Given the description of an element on the screen output the (x, y) to click on. 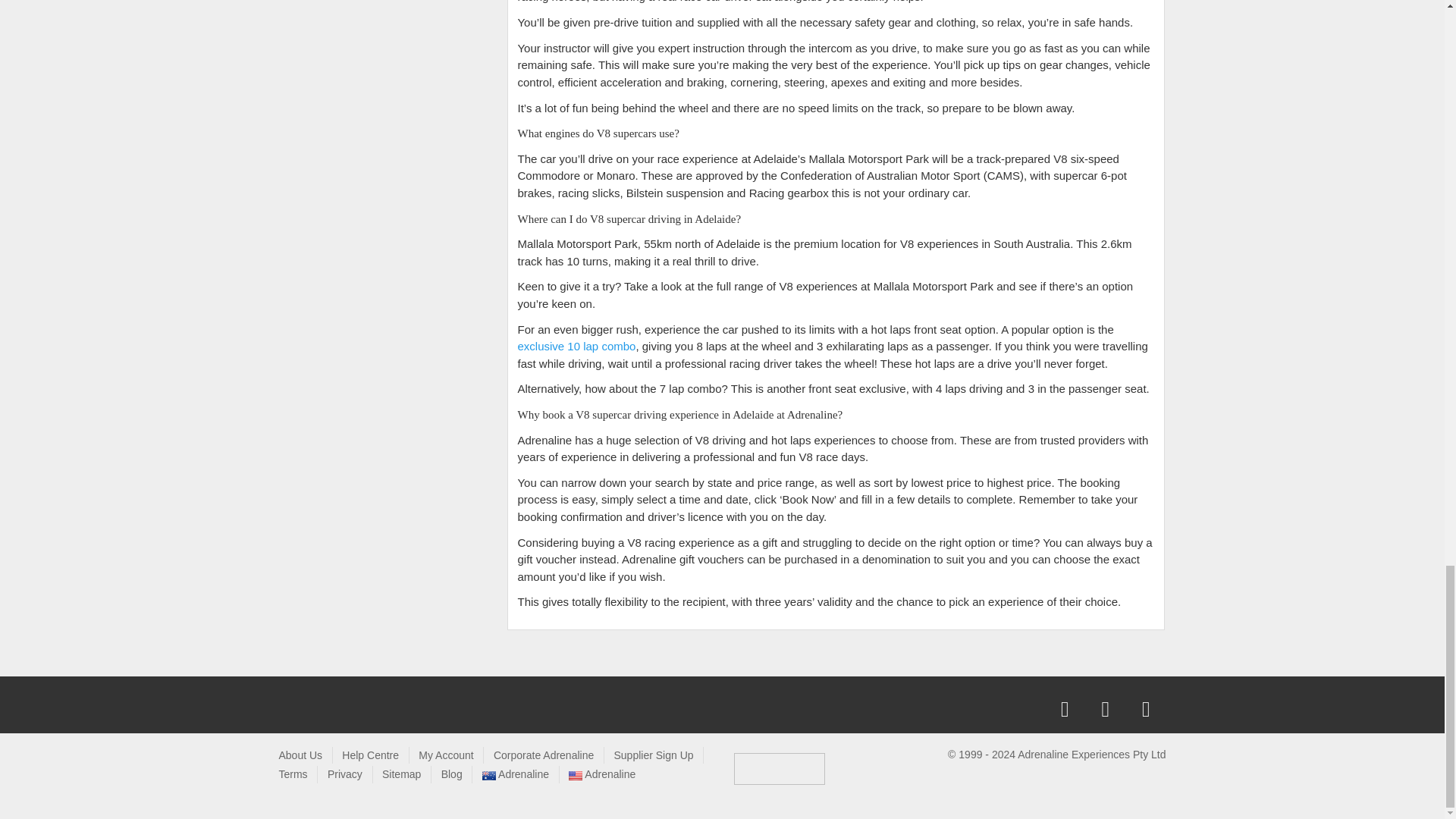
Become a Supplier (652, 755)
Help Centre (370, 755)
About Us (301, 755)
My Account (446, 755)
Corporate Adrenaline (543, 755)
